Given the description of an element on the screen output the (x, y) to click on. 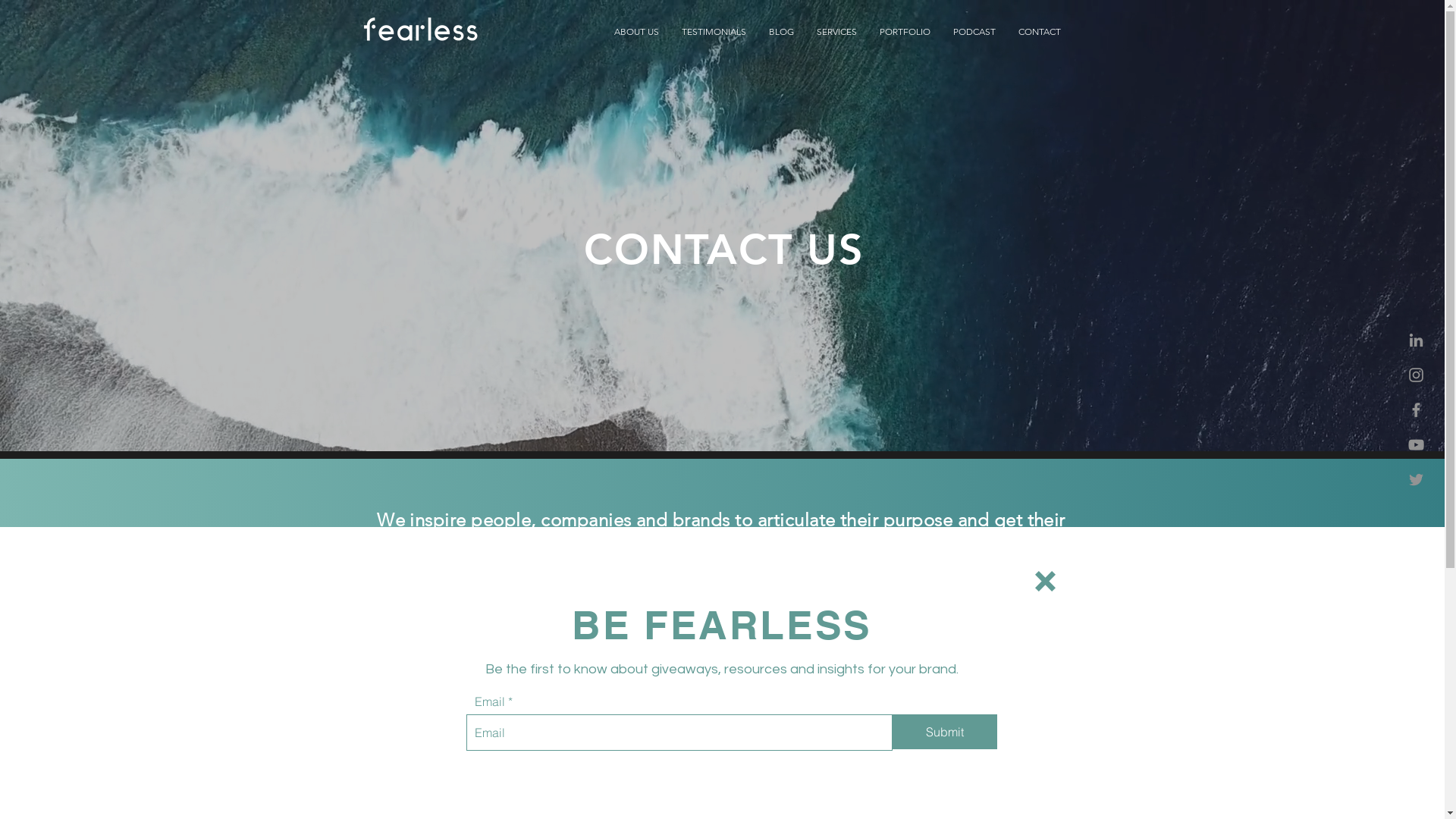
0428 000 498 Element type: text (562, 656)
BLOG Element type: text (781, 31)
Submit Element type: text (943, 731)
ABOUT US Element type: text (636, 31)
SERVICES Element type: text (836, 31)
Book a free strategy call Element type: text (1322, 766)
CONTACT Element type: text (1039, 31)
PORTFOLIO Element type: text (904, 31)
PODCAST Element type: text (974, 31)
Back to site Element type: hover (1044, 581)
TESTIMONIALS Element type: text (713, 31)
